Given the description of an element on the screen output the (x, y) to click on. 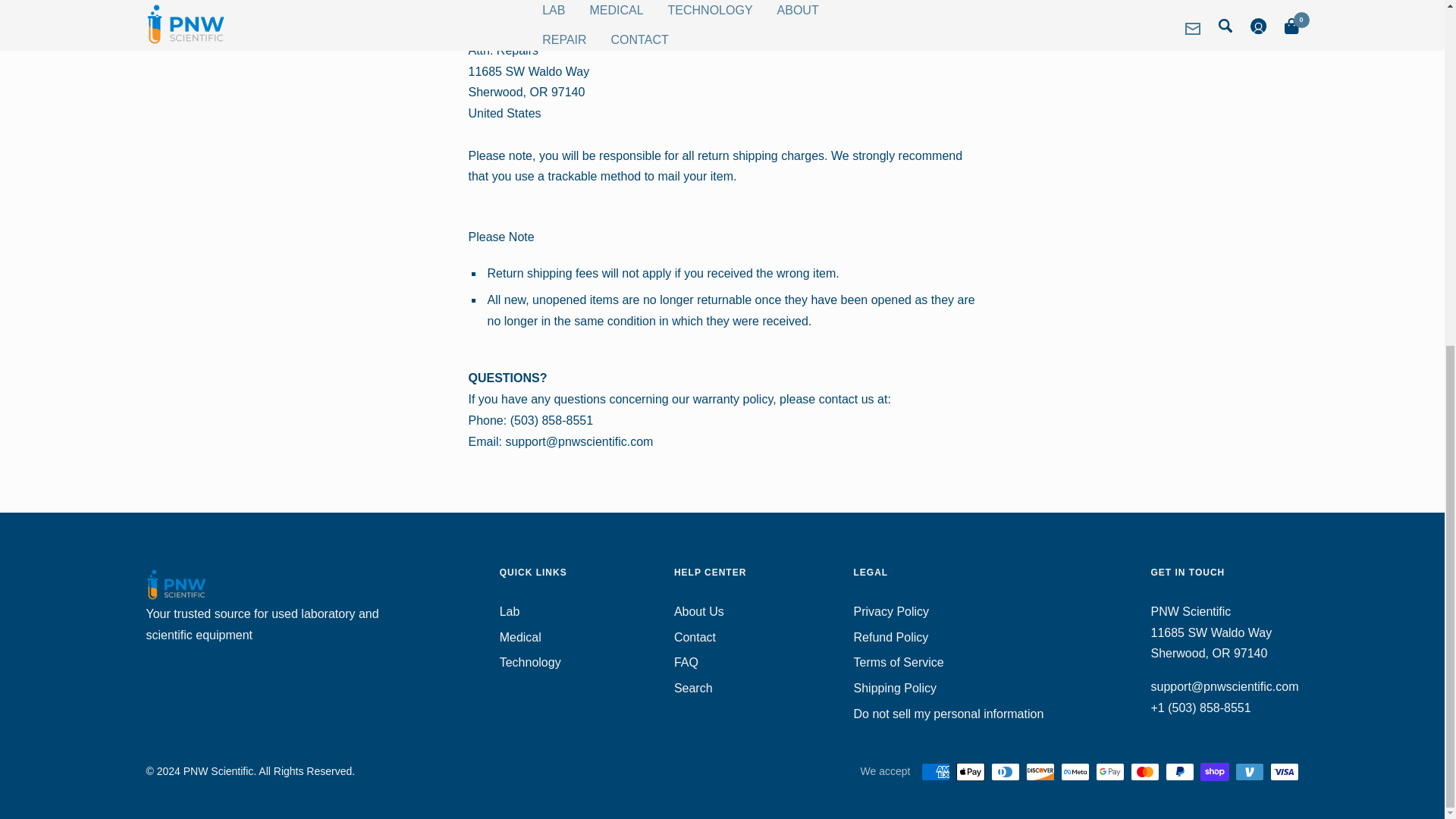
FAQ (686, 662)
Lab (509, 611)
About Us (698, 611)
Refund Policy (890, 637)
Search (693, 688)
Shipping Policy (894, 688)
Do not sell my personal information (948, 713)
Medical (520, 637)
Terms of Service (898, 662)
Privacy Policy (891, 611)
